Given the description of an element on the screen output the (x, y) to click on. 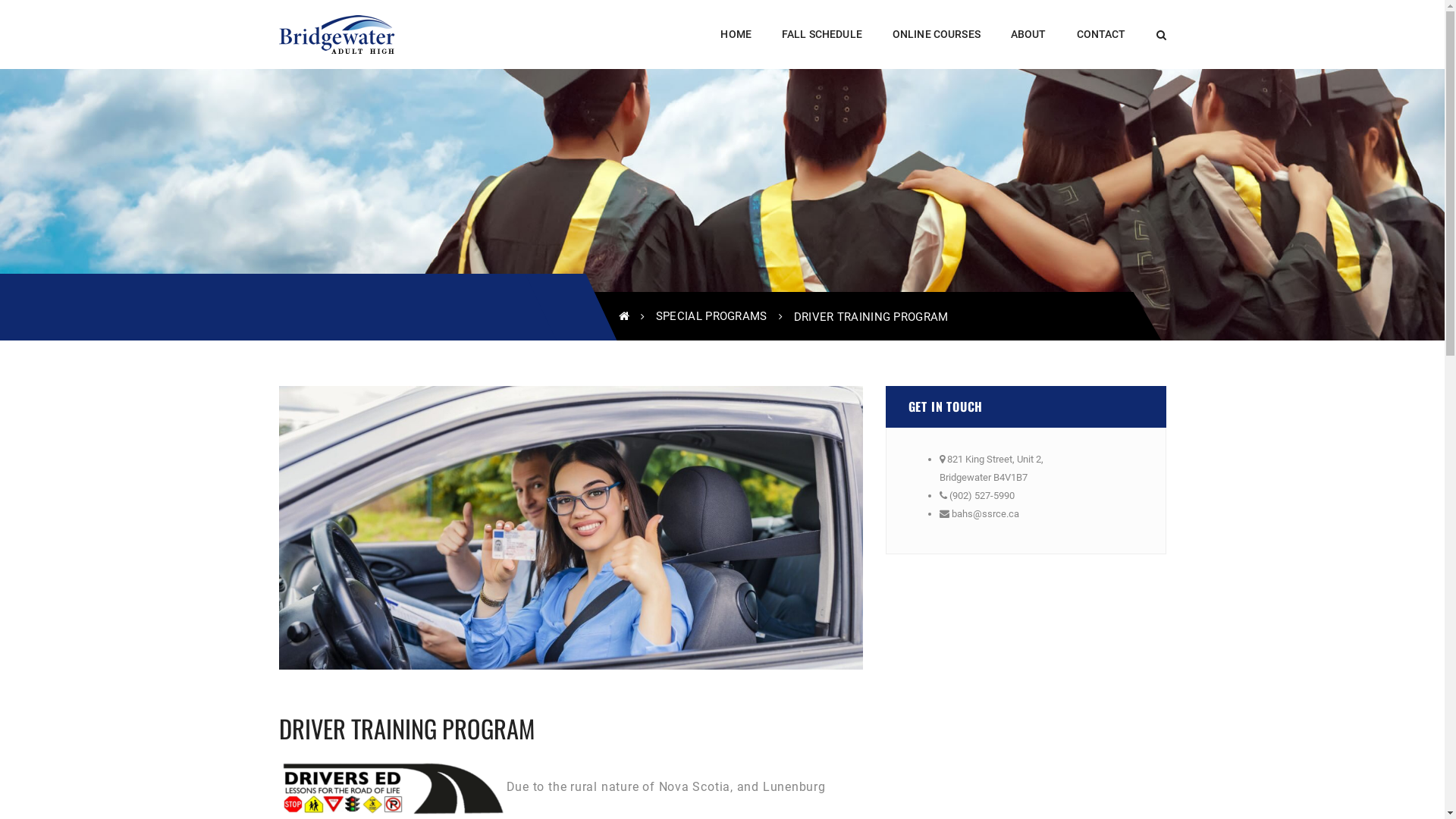
CONTACT Element type: text (1101, 34)
FALL SCHEDULE Element type: text (821, 34)
SPECIAL PROGRAMS Element type: text (711, 316)
Driver Training Program Element type: hover (570, 527)
ONLINE COURSES Element type: text (936, 34)
ABOUT Element type: text (1028, 34)
HOME Element type: text (735, 34)
